Given the description of an element on the screen output the (x, y) to click on. 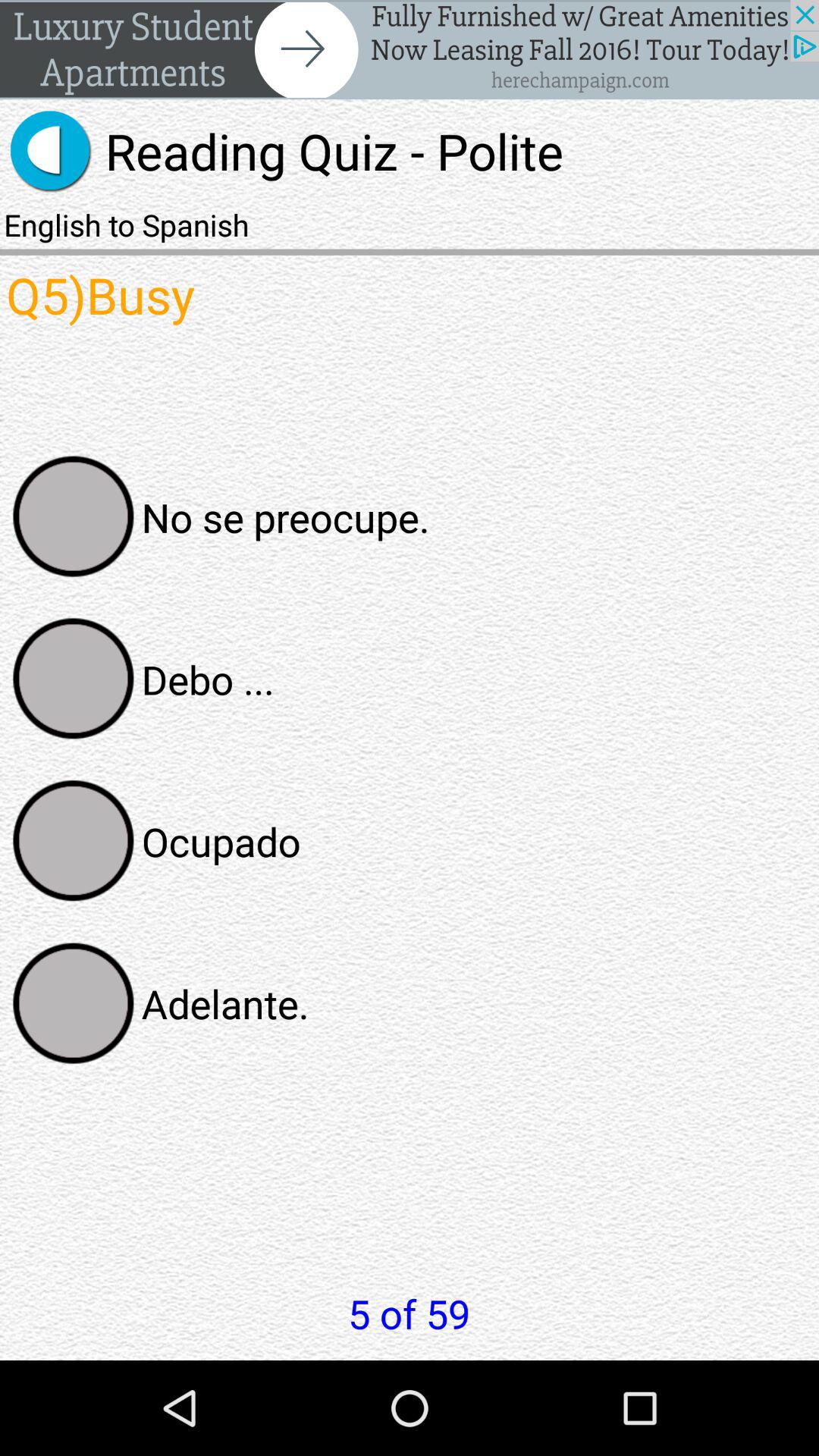
select option (73, 678)
